Given the description of an element on the screen output the (x, y) to click on. 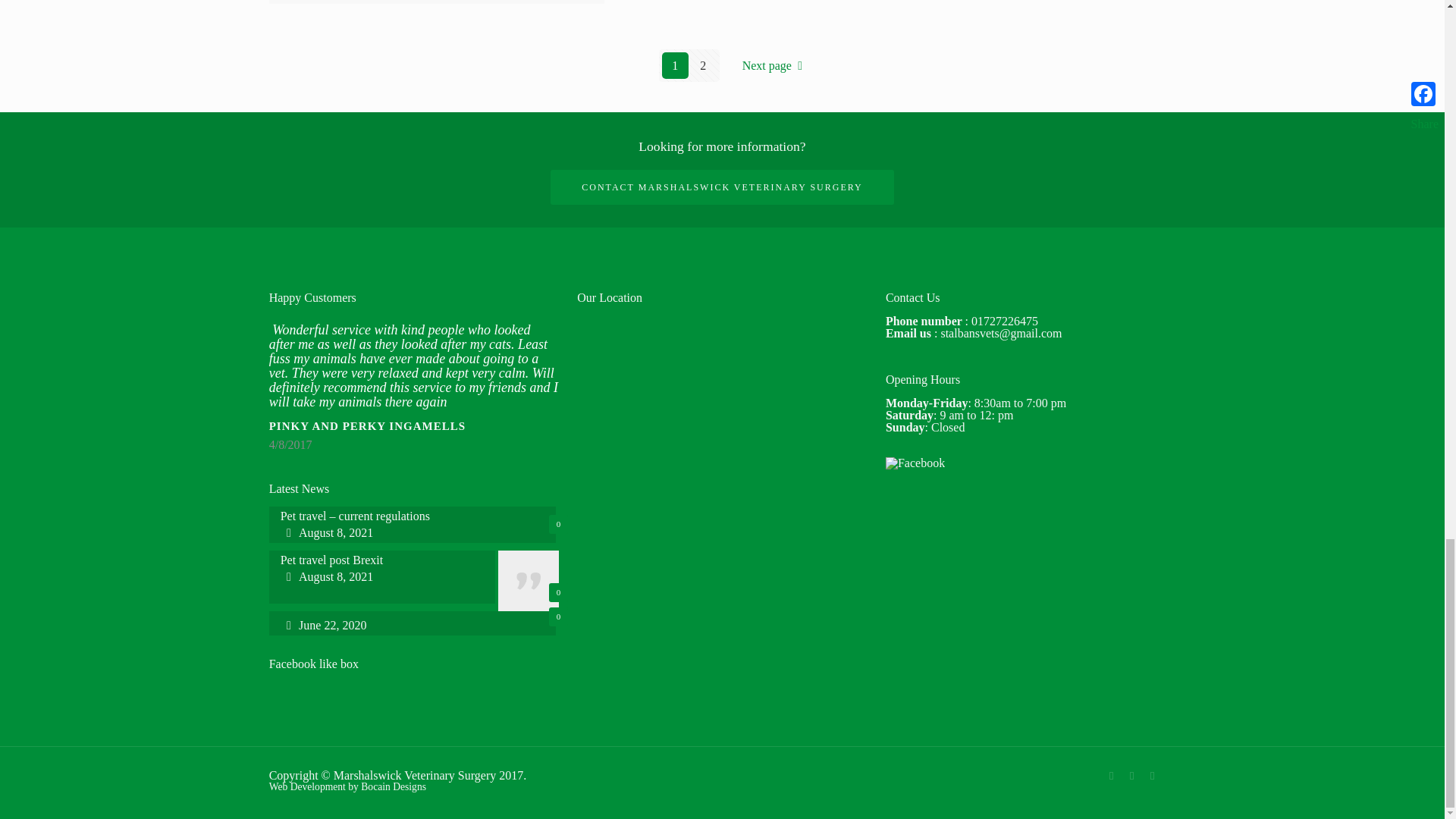
Facebook (1111, 775)
